Given the description of an element on the screen output the (x, y) to click on. 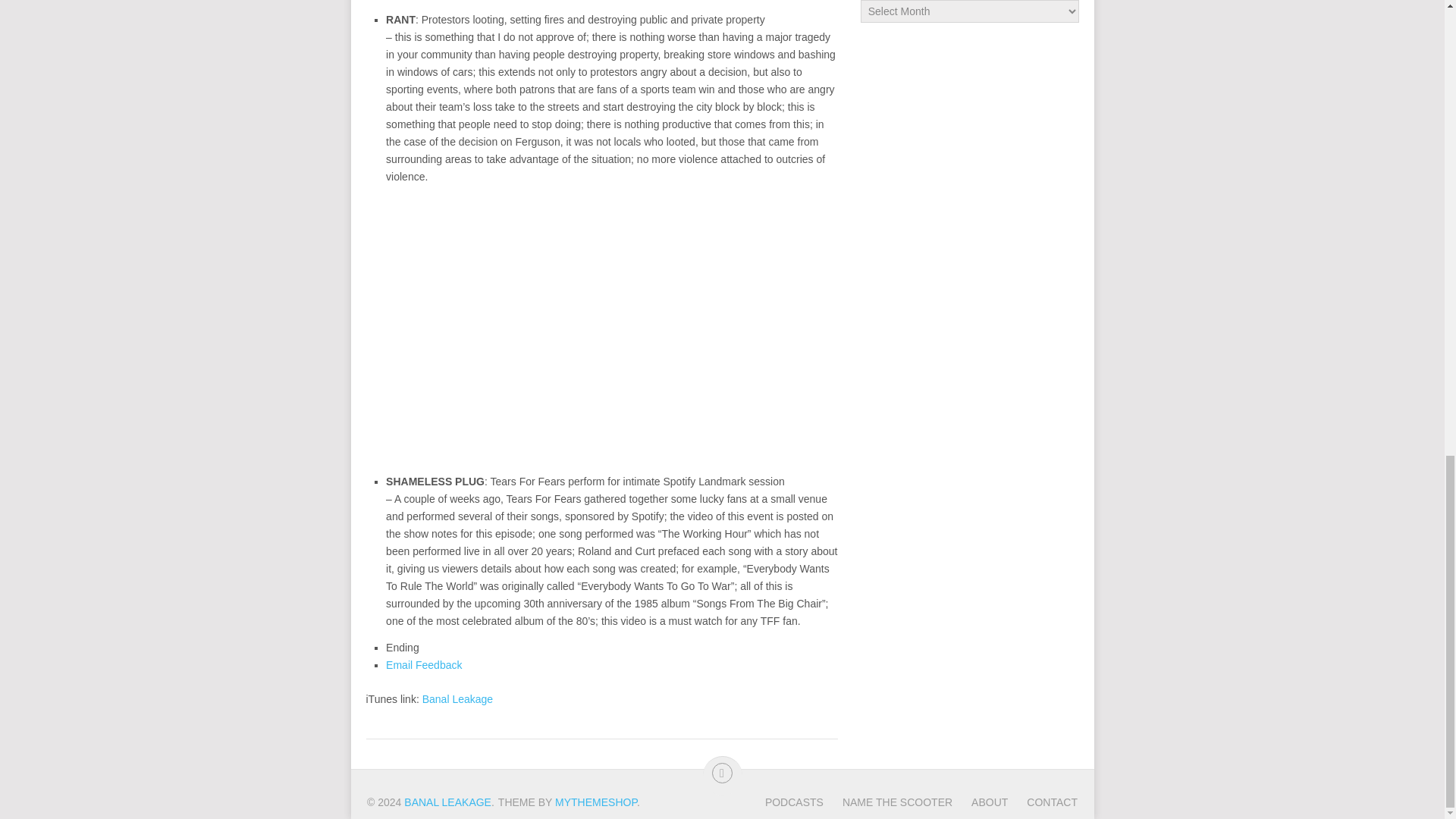
Random Bits of Whatever (448, 802)
Banal Leakage (457, 698)
Advertisement (969, 272)
Email Feedback (423, 664)
MYTHEMESHOP (595, 802)
CONTACT (1042, 802)
iTunes Podcast (457, 698)
BANAL LEAKAGE (448, 802)
NAME THE SCOOTER (888, 802)
PODCASTS (794, 802)
Feedback (423, 664)
Spotify Landmark: Tears For Fears (611, 321)
ABOUT (979, 802)
